Given the description of an element on the screen output the (x, y) to click on. 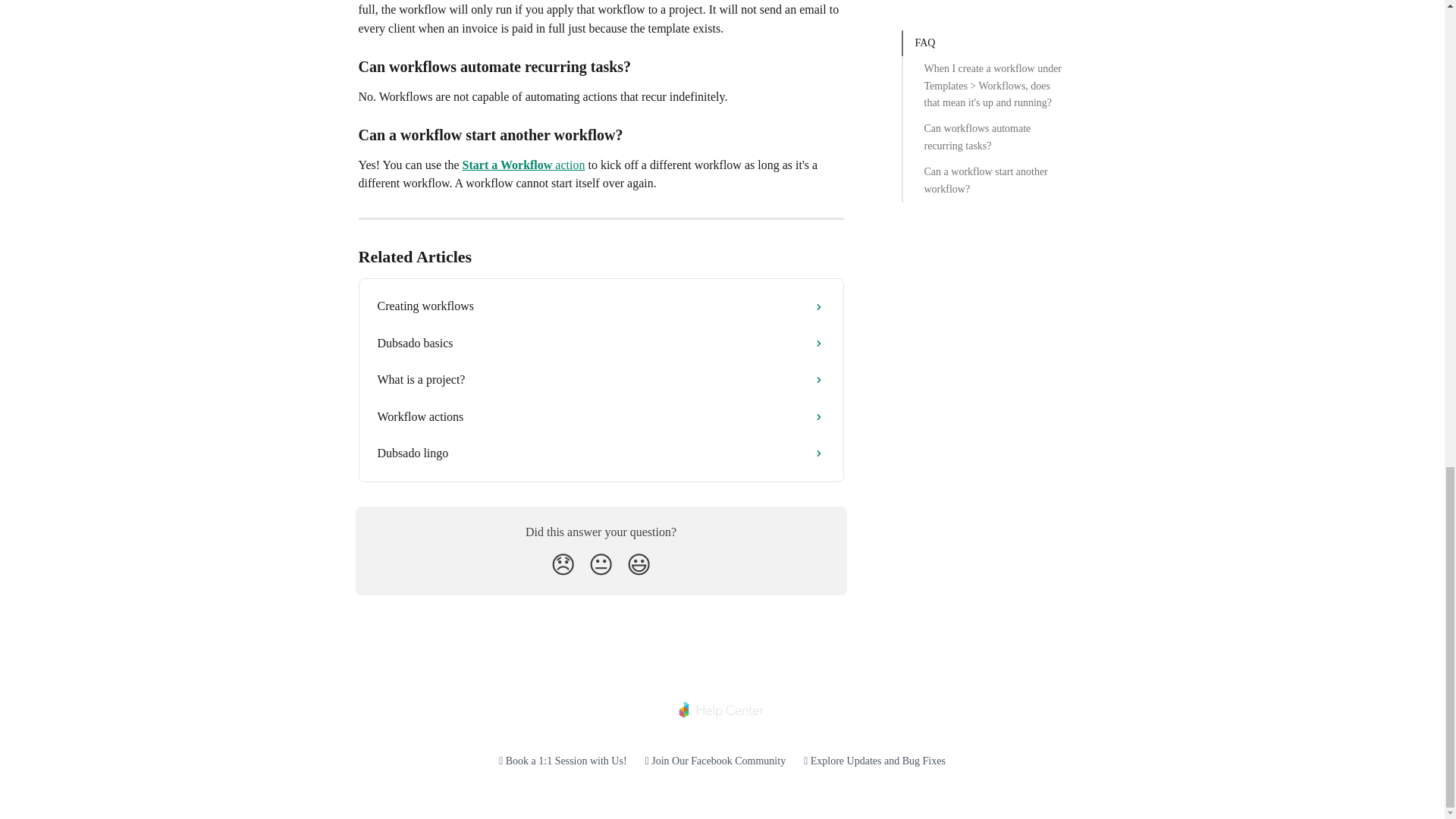
Start a Workflow (508, 164)
What is a project? (601, 379)
Workflow actions (601, 416)
Neutral (600, 564)
Creating workflows (601, 306)
Smiley (638, 564)
Disappointed (562, 564)
Dubsado lingo (601, 452)
Dubsado basics (601, 343)
action (568, 164)
